Given the description of an element on the screen output the (x, y) to click on. 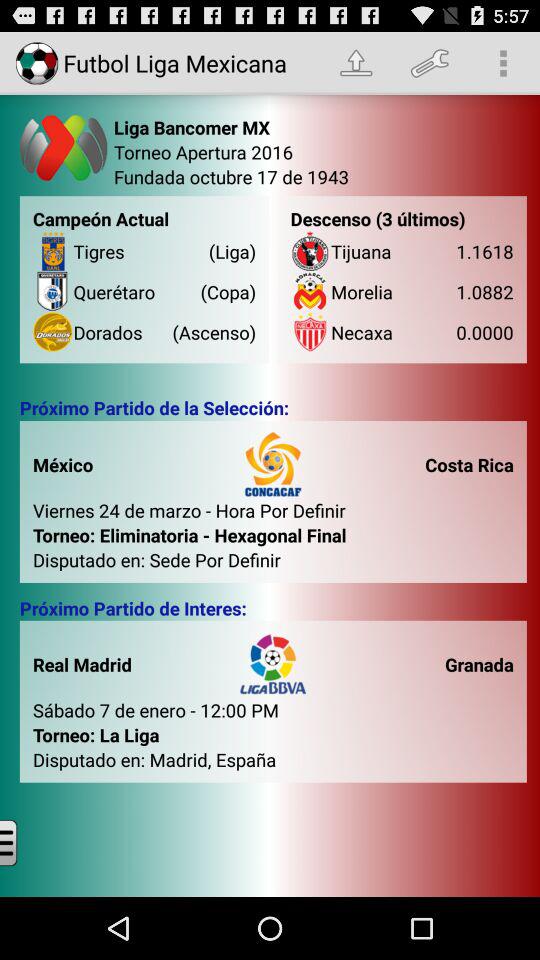
options (24, 842)
